Given the description of an element on the screen output the (x, y) to click on. 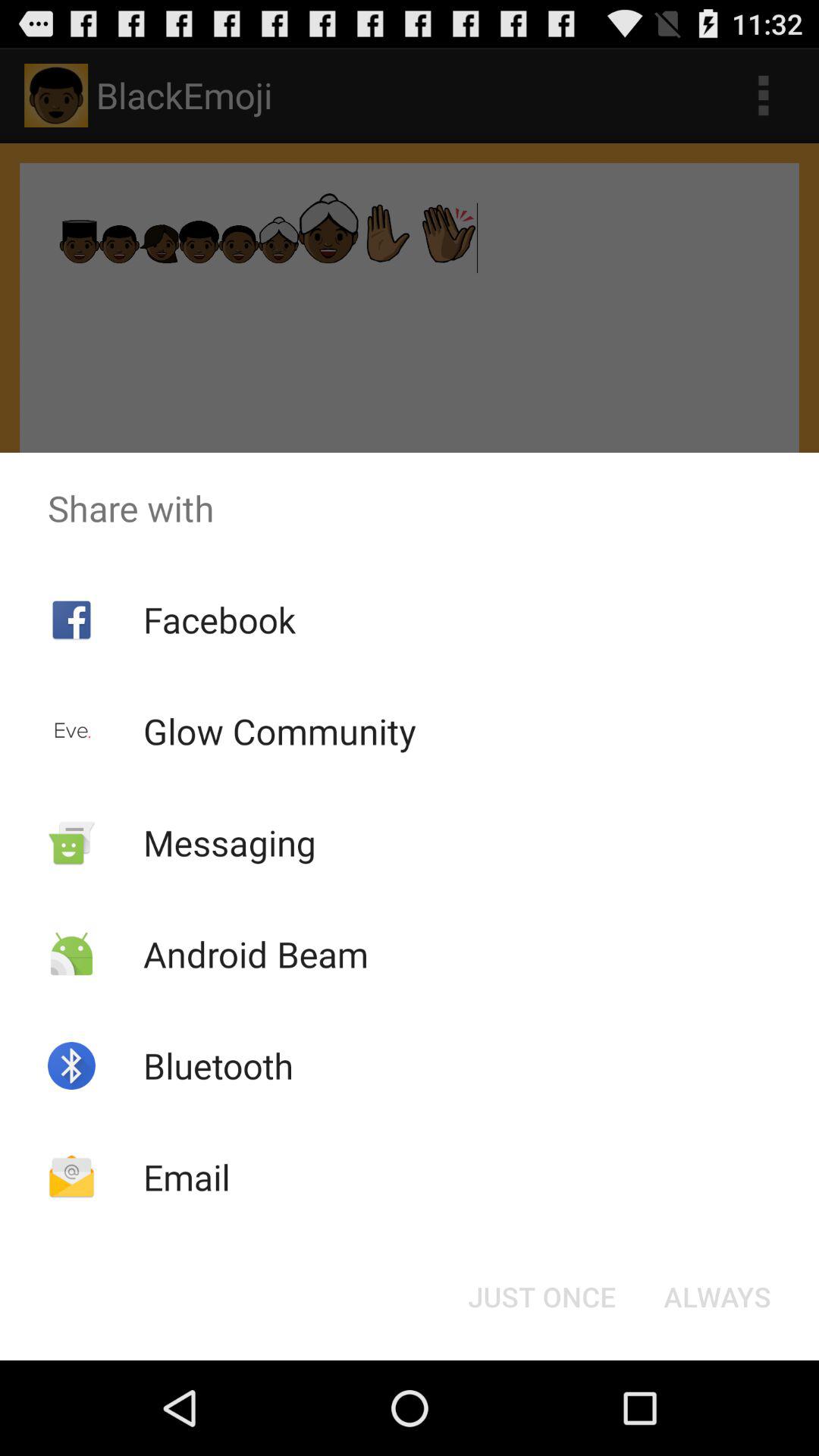
launch the item at the bottom (541, 1296)
